Given the description of an element on the screen output the (x, y) to click on. 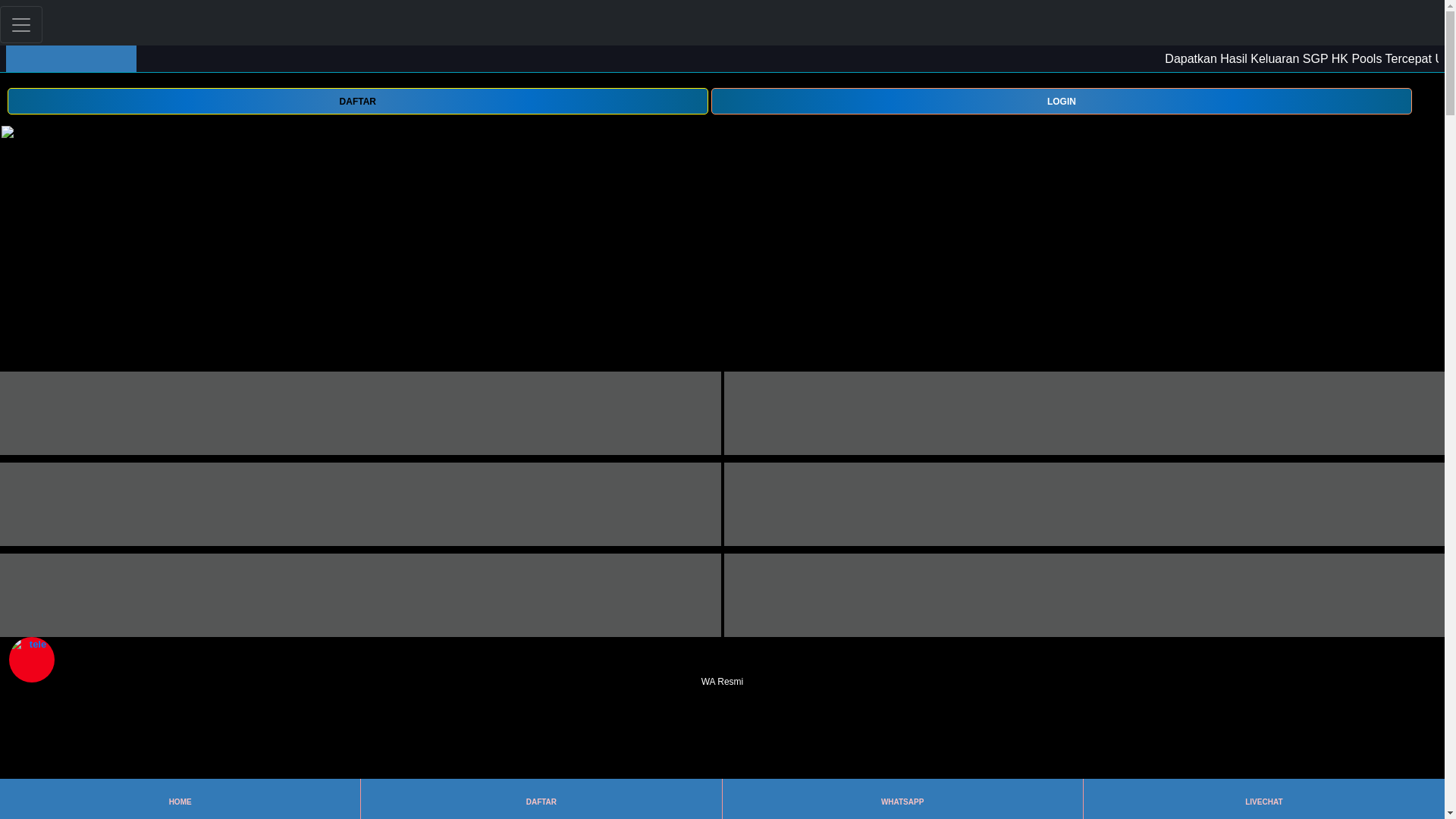
DAFTAR (357, 100)
DAFTAR (357, 100)
WA Resmi (722, 672)
WHATSAPP (901, 798)
LIVECHAT (1263, 798)
LOGIN (1061, 100)
LOGIN (1061, 100)
DAFTAR (540, 798)
HOME (179, 798)
